Given the description of an element on the screen output the (x, y) to click on. 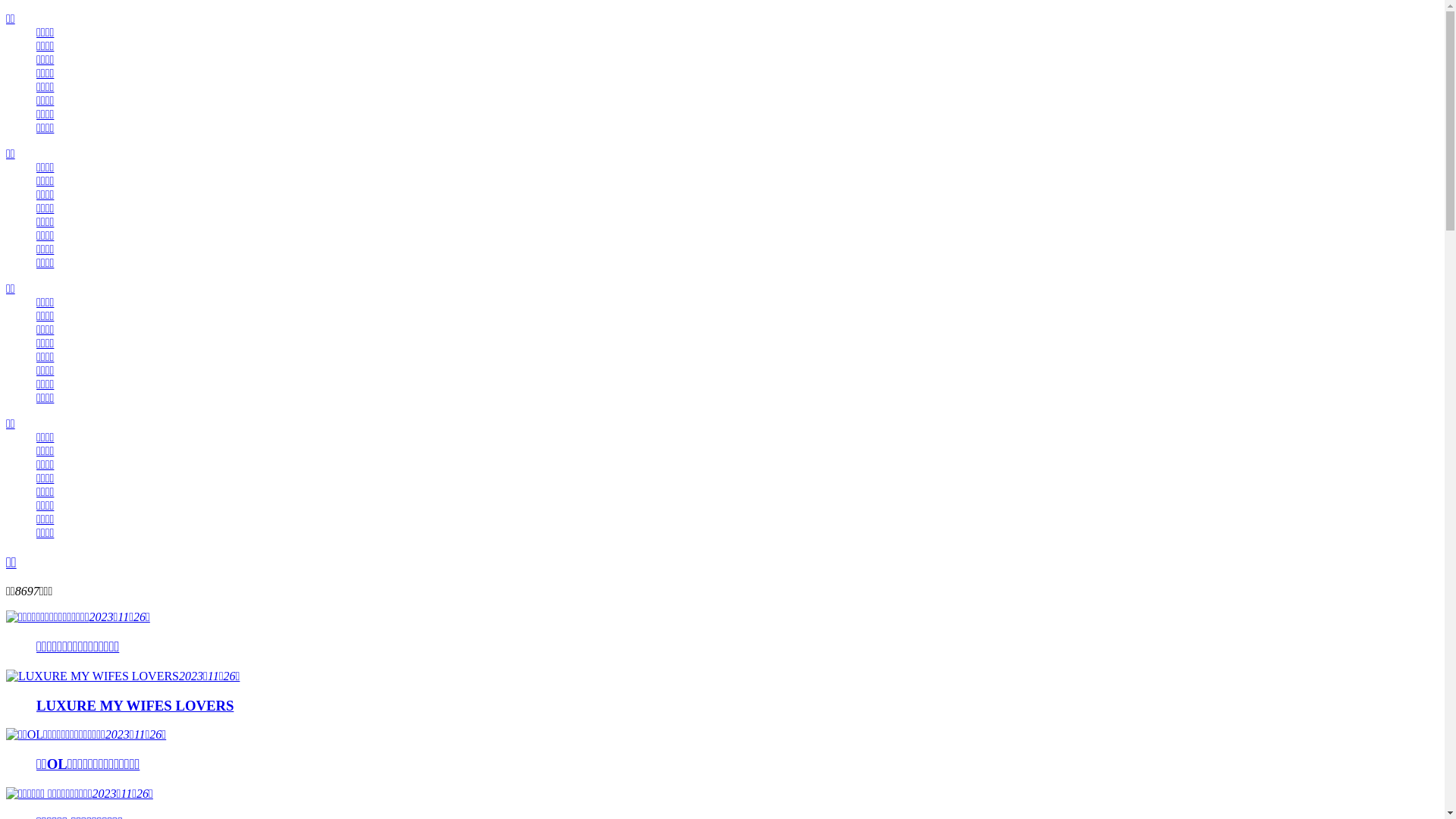
LUXURE MY WIFES LOVERS Element type: text (737, 705)
